Given the description of an element on the screen output the (x, y) to click on. 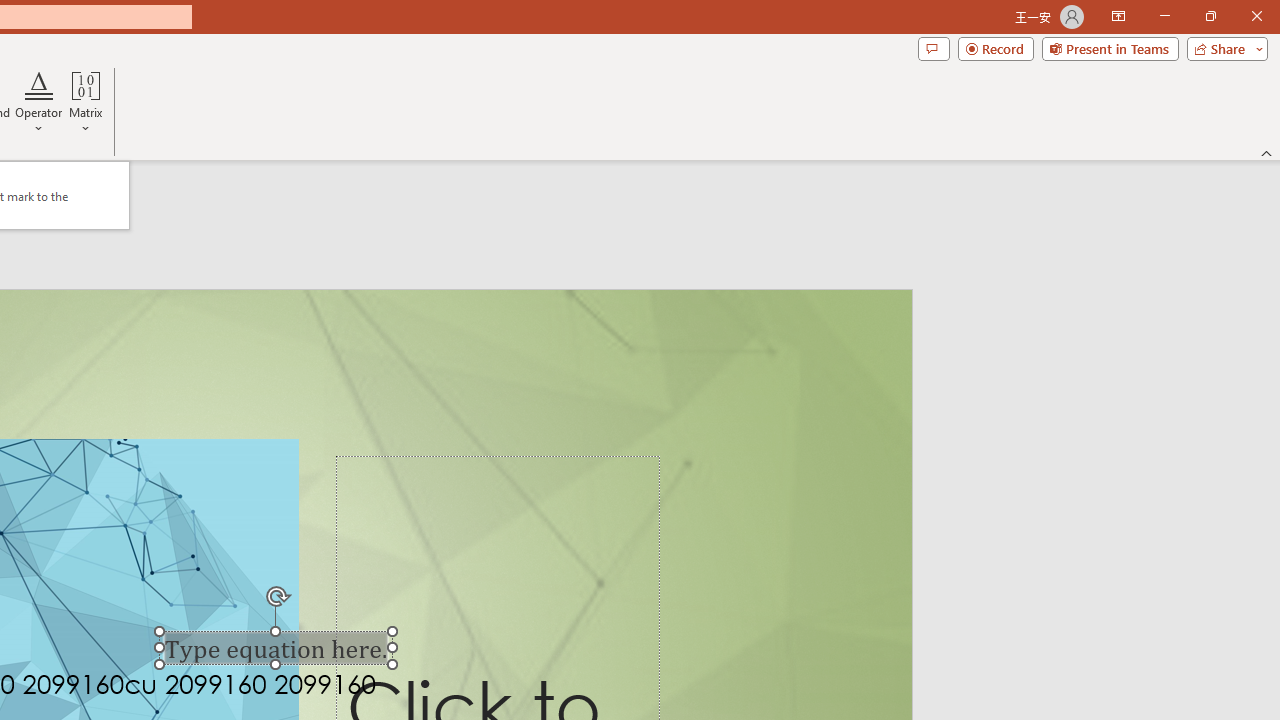
Matrix (86, 102)
Operator (38, 102)
